Given the description of an element on the screen output the (x, y) to click on. 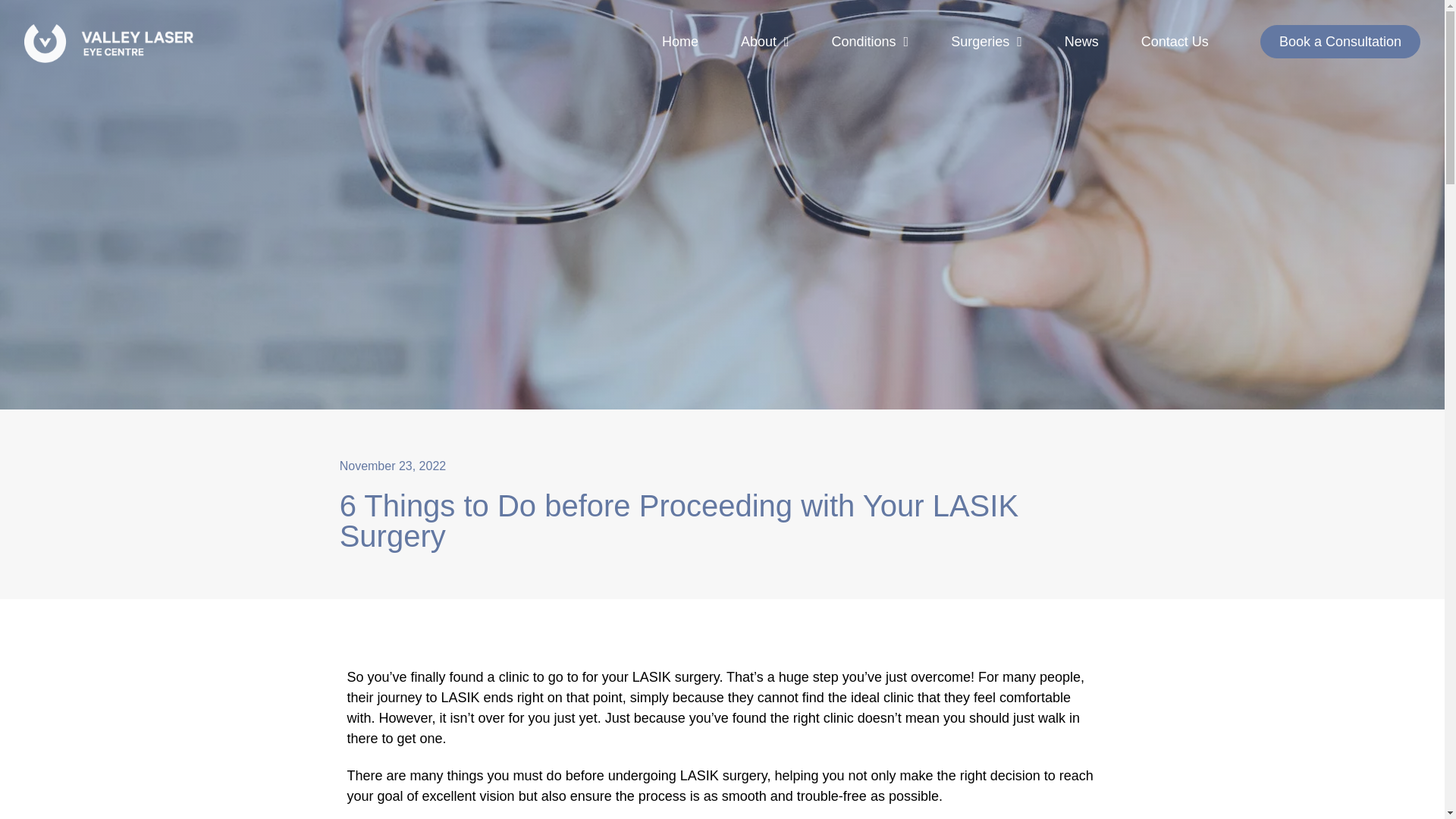
About (765, 41)
Surgeries (986, 41)
Conditions (870, 41)
Home (679, 41)
Contact Us (1174, 41)
News (1081, 41)
